Given the description of an element on the screen output the (x, y) to click on. 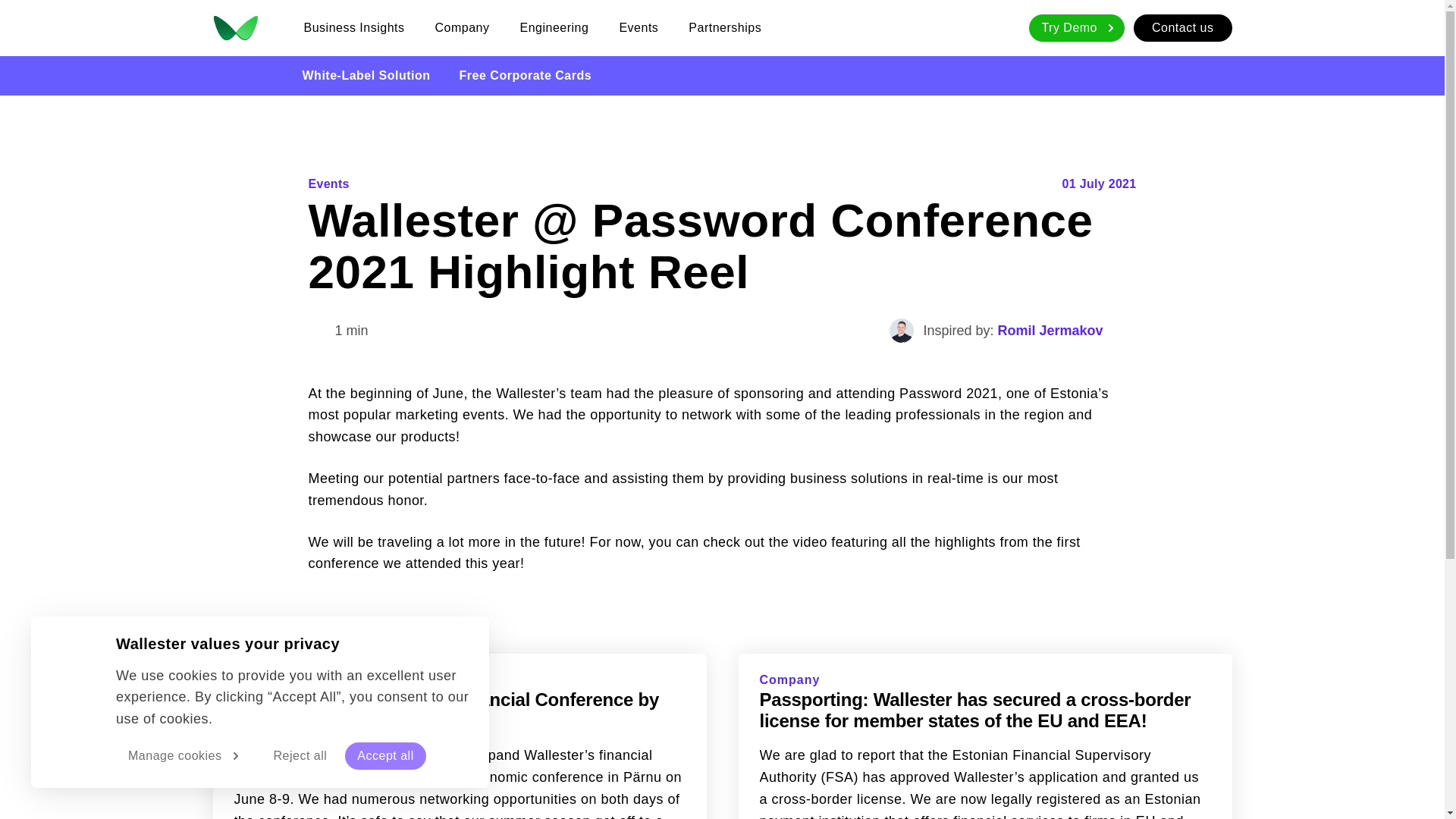
Manage cookies (186, 755)
Engineering (554, 27)
Events (637, 27)
Business Insights (353, 27)
Free Corporate Cards (525, 75)
White-Label Solution (365, 75)
Events (328, 183)
Contact us (1182, 27)
Try Demo (1076, 27)
Company (462, 27)
